Given the description of an element on the screen output the (x, y) to click on. 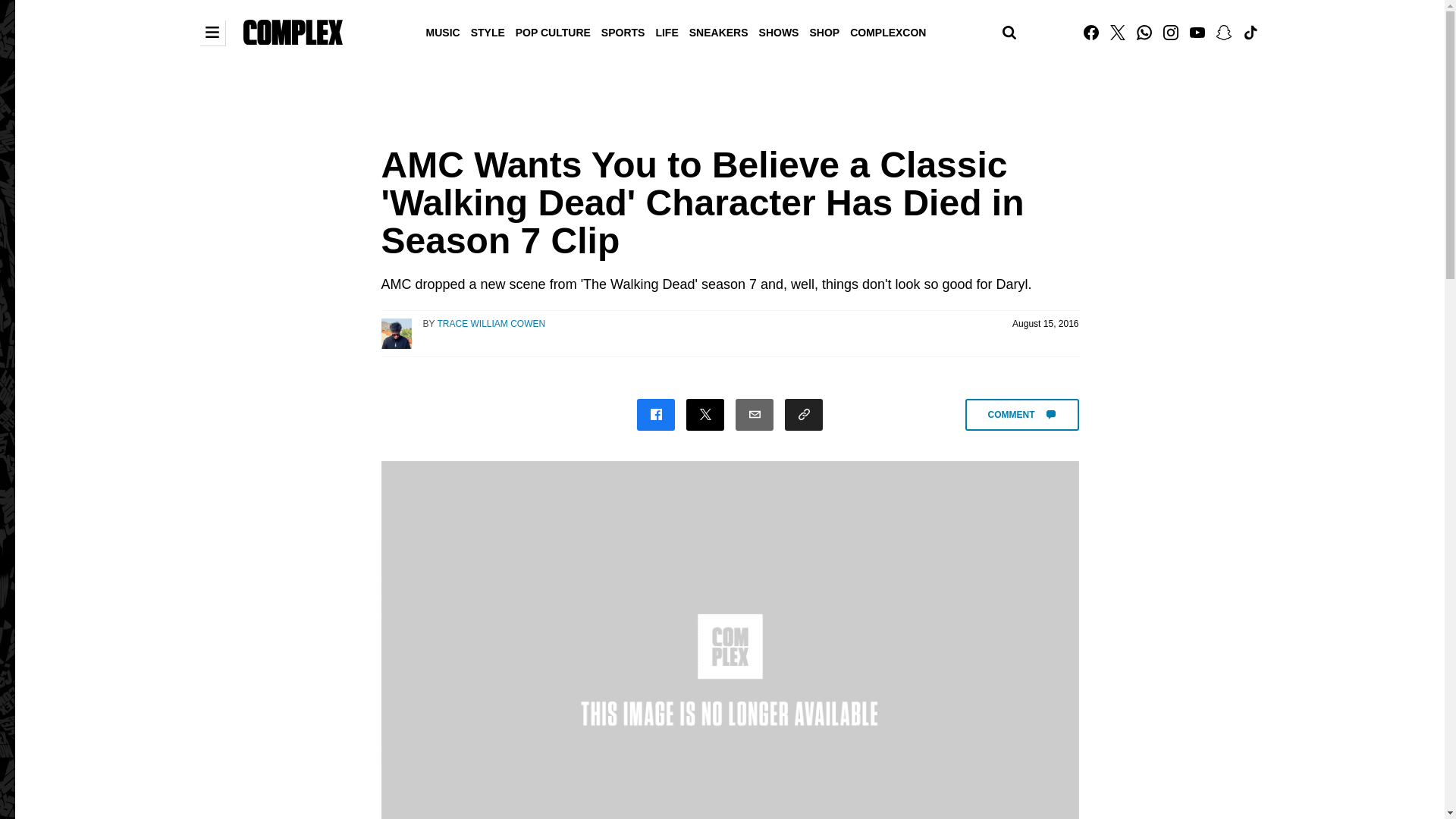
POP CULTURE (553, 30)
SHOP (823, 30)
LIFE (665, 30)
SHOWS (779, 30)
STYLE (488, 30)
SNEAKERS (719, 30)
SPORTS (622, 30)
COMPLEXCON (887, 30)
MUSIC (442, 30)
